Given the description of an element on the screen output the (x, y) to click on. 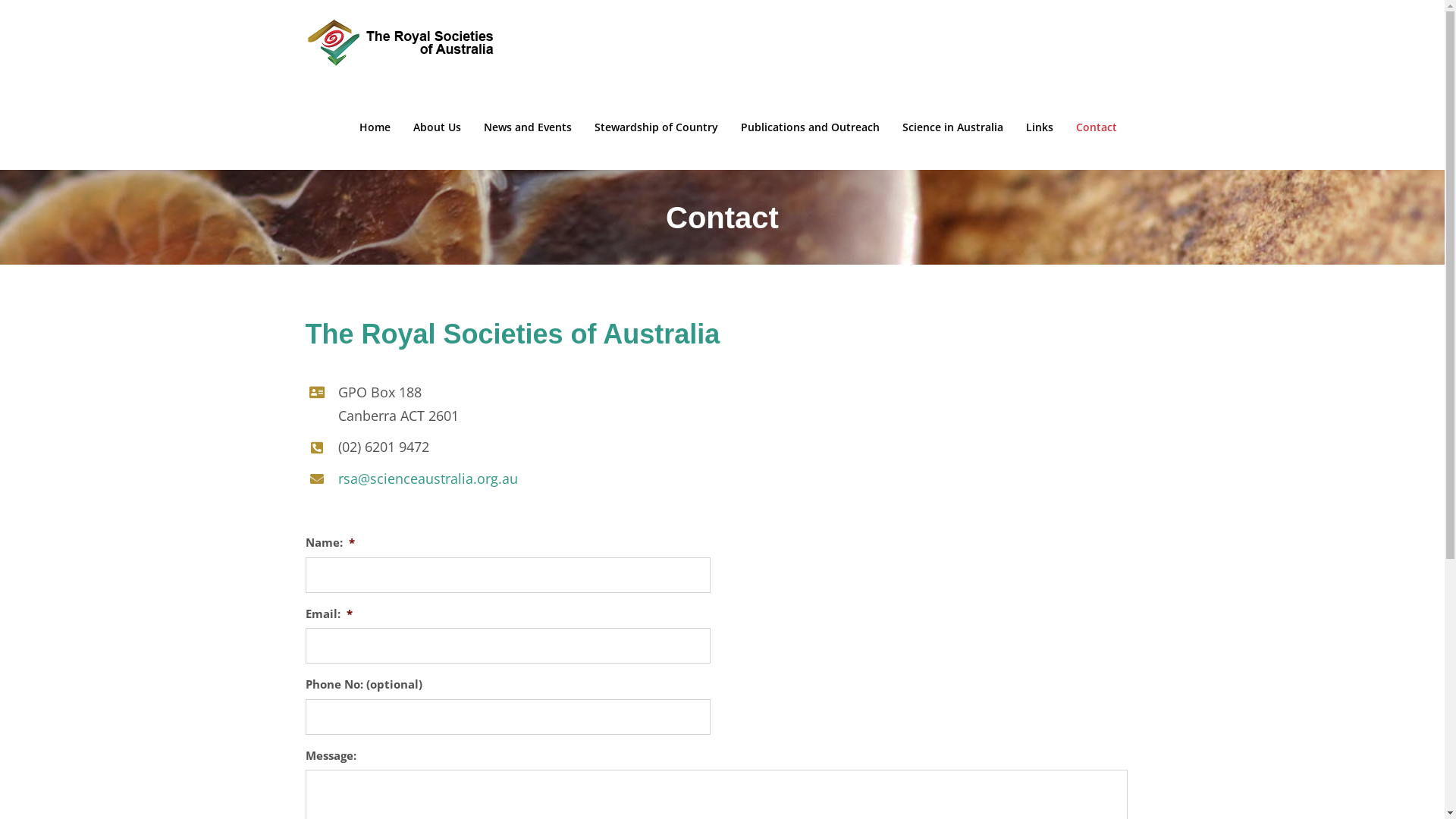
News and Events Element type: text (527, 126)
Home Element type: text (374, 126)
Contact Element type: text (1095, 126)
Science in Australia Element type: text (952, 126)
Stewardship of Country Element type: text (656, 126)
Links Element type: text (1038, 126)
Publications and Outreach Element type: text (809, 126)
About Us Element type: text (436, 126)
rsa@scienceaustralia.org.au Element type: text (427, 478)
